Given the description of an element on the screen output the (x, y) to click on. 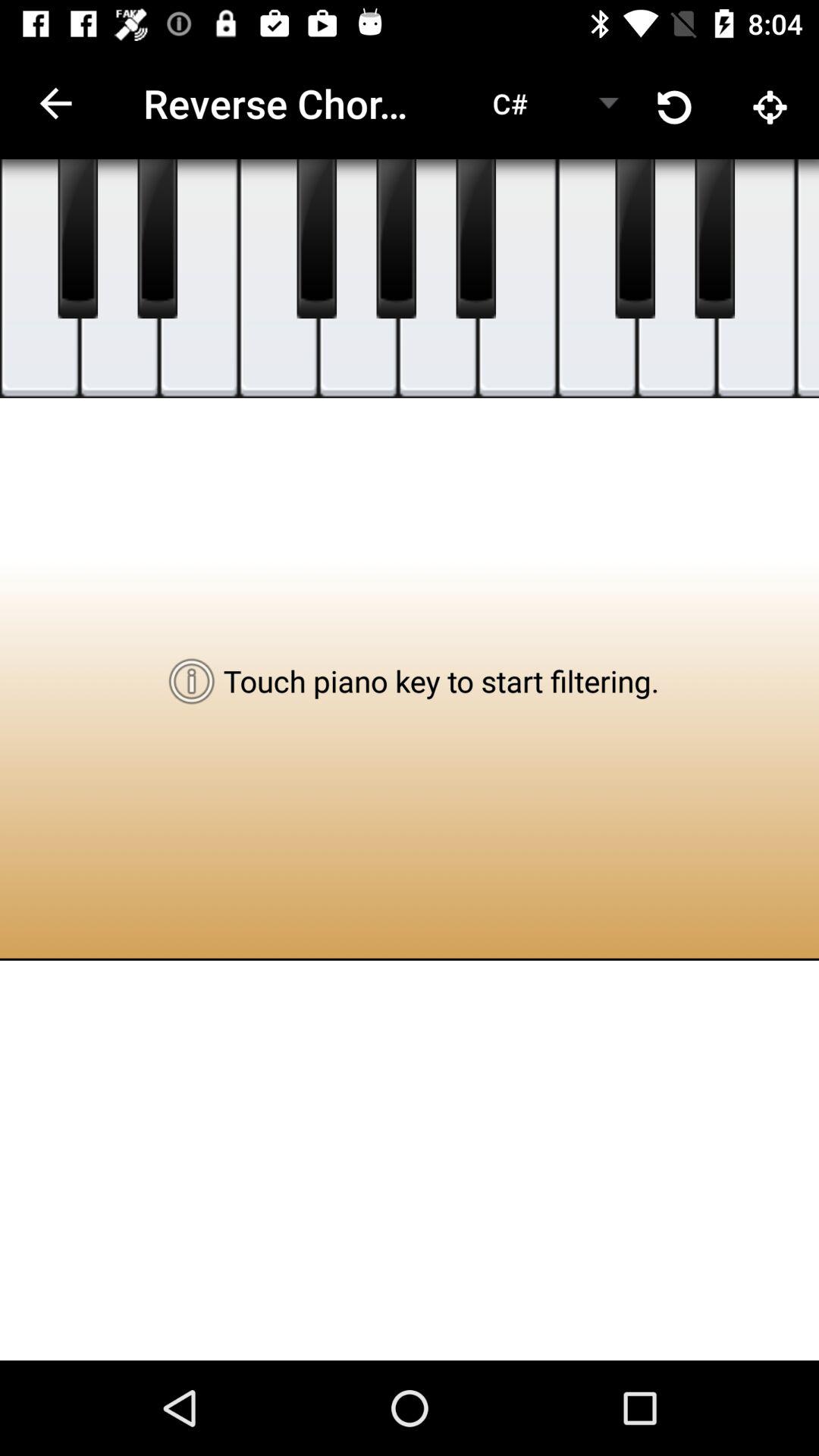
piano key (157, 238)
